Given the description of an element on the screen output the (x, y) to click on. 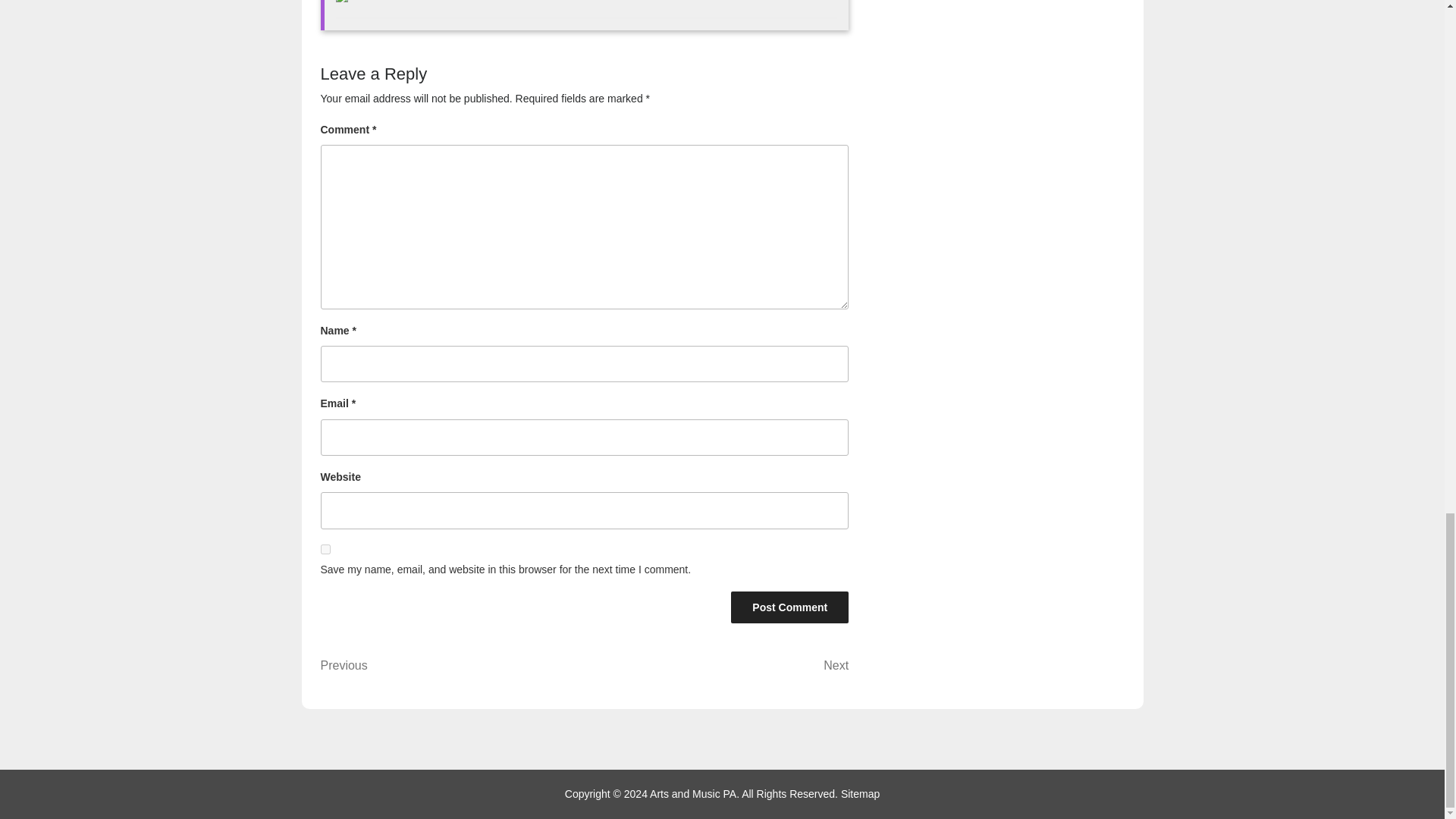
Sitemap (451, 665)
yes (860, 793)
Post Comment (325, 548)
Post Comment (789, 607)
